Given the description of an element on the screen output the (x, y) to click on. 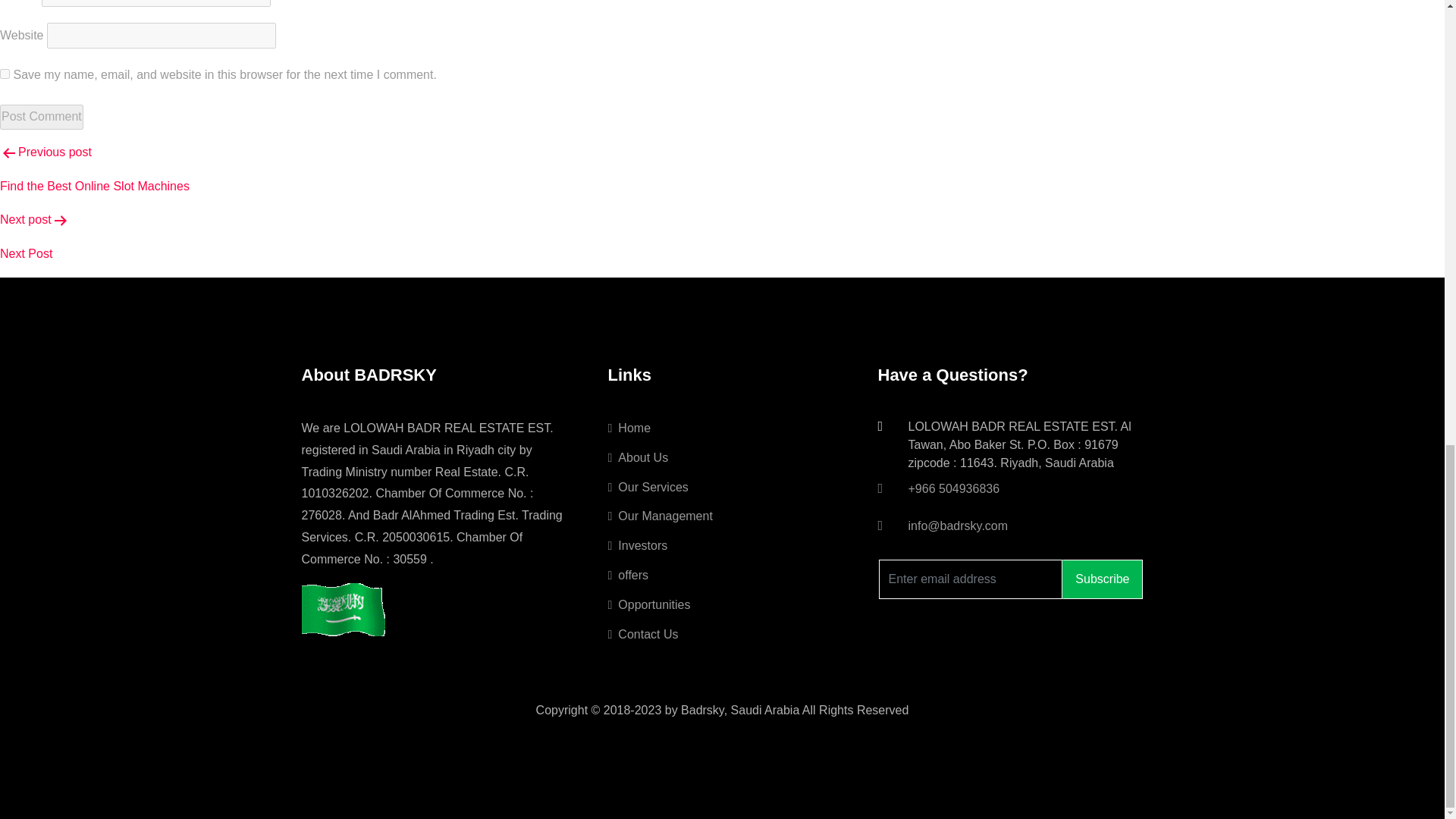
yes (5, 73)
Subscribe (1101, 578)
offers (628, 574)
Post Comment (41, 116)
Subscribe (1101, 578)
Post Comment (41, 116)
Contact Us (643, 634)
Opportunities (649, 604)
Our Services (648, 486)
About Us (638, 457)
